Given the description of an element on the screen output the (x, y) to click on. 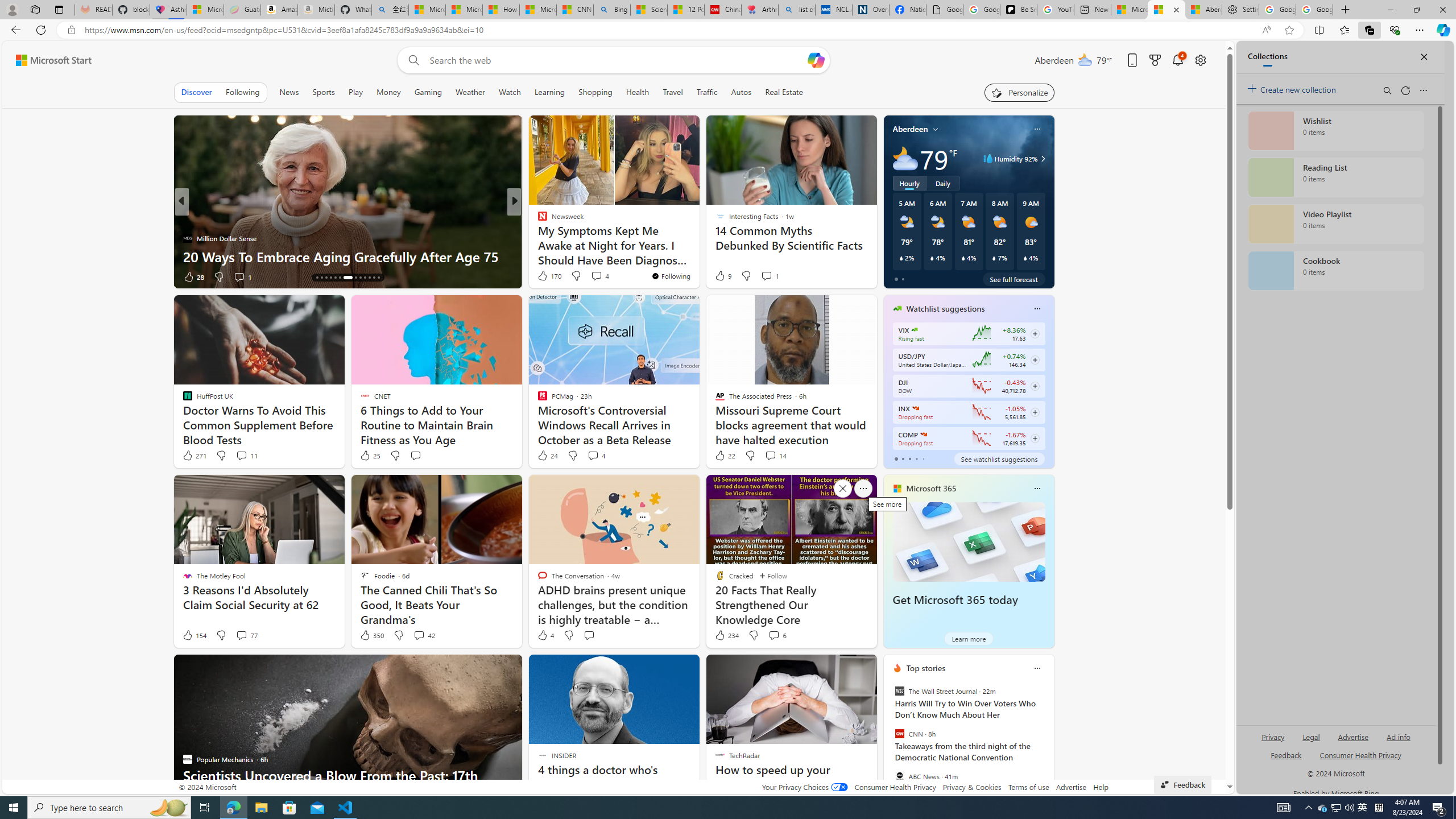
View comments 4 Comment (592, 455)
Class: follow-button  m (1034, 438)
3k Like (543, 276)
View comments 42 Comment (423, 634)
Kinda Frugal (537, 238)
9 Like (722, 275)
636 Like (545, 276)
22 Like (724, 455)
